Given the description of an element on the screen output the (x, y) to click on. 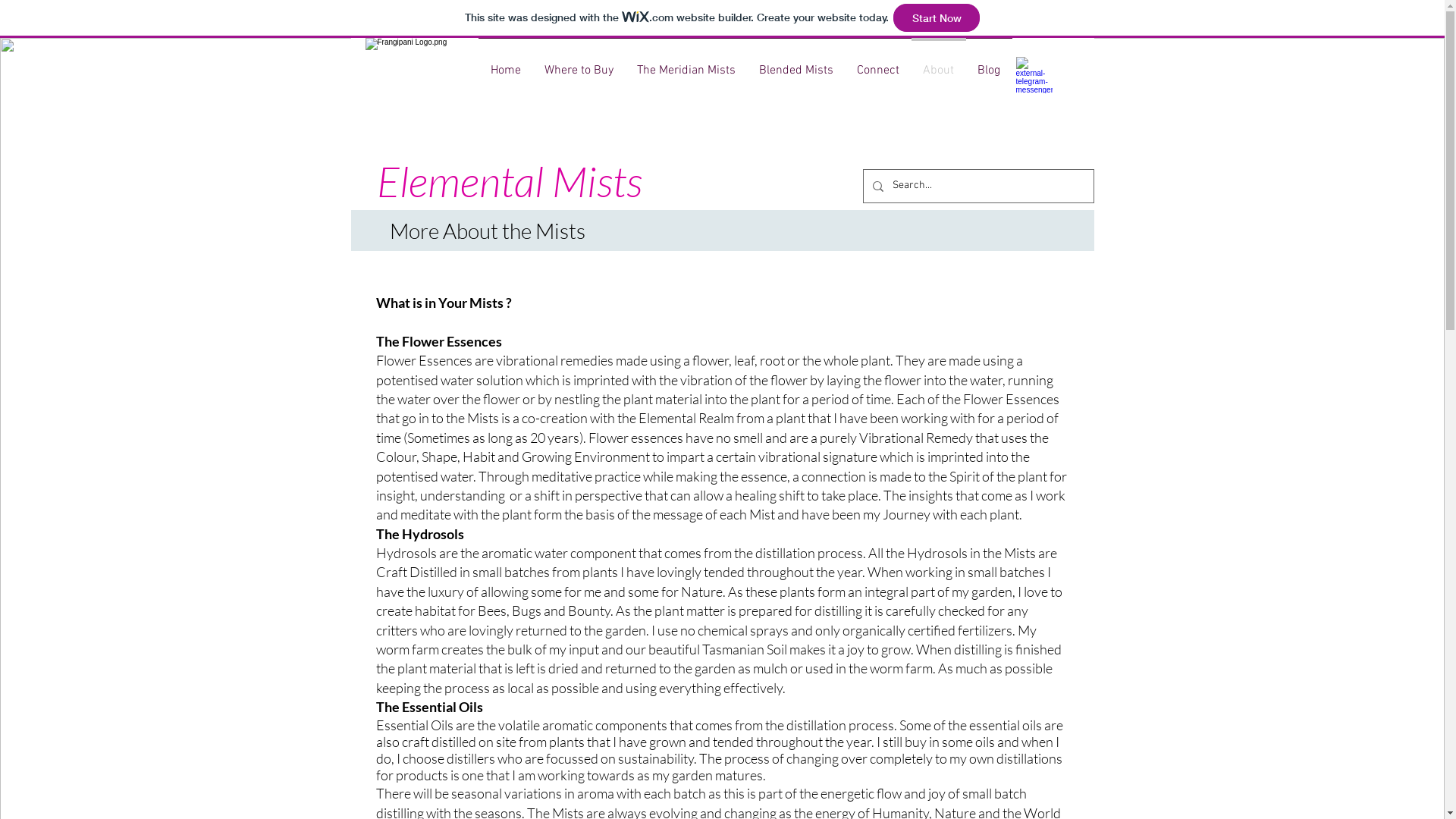
Blog Element type: text (989, 63)
About Element type: text (938, 63)
Home Element type: text (504, 63)
The Meridian Mists Element type: text (685, 63)
Where to Buy Element type: text (578, 63)
Connect Element type: text (877, 63)
Blended Mists Element type: text (796, 63)
